Given the description of an element on the screen output the (x, y) to click on. 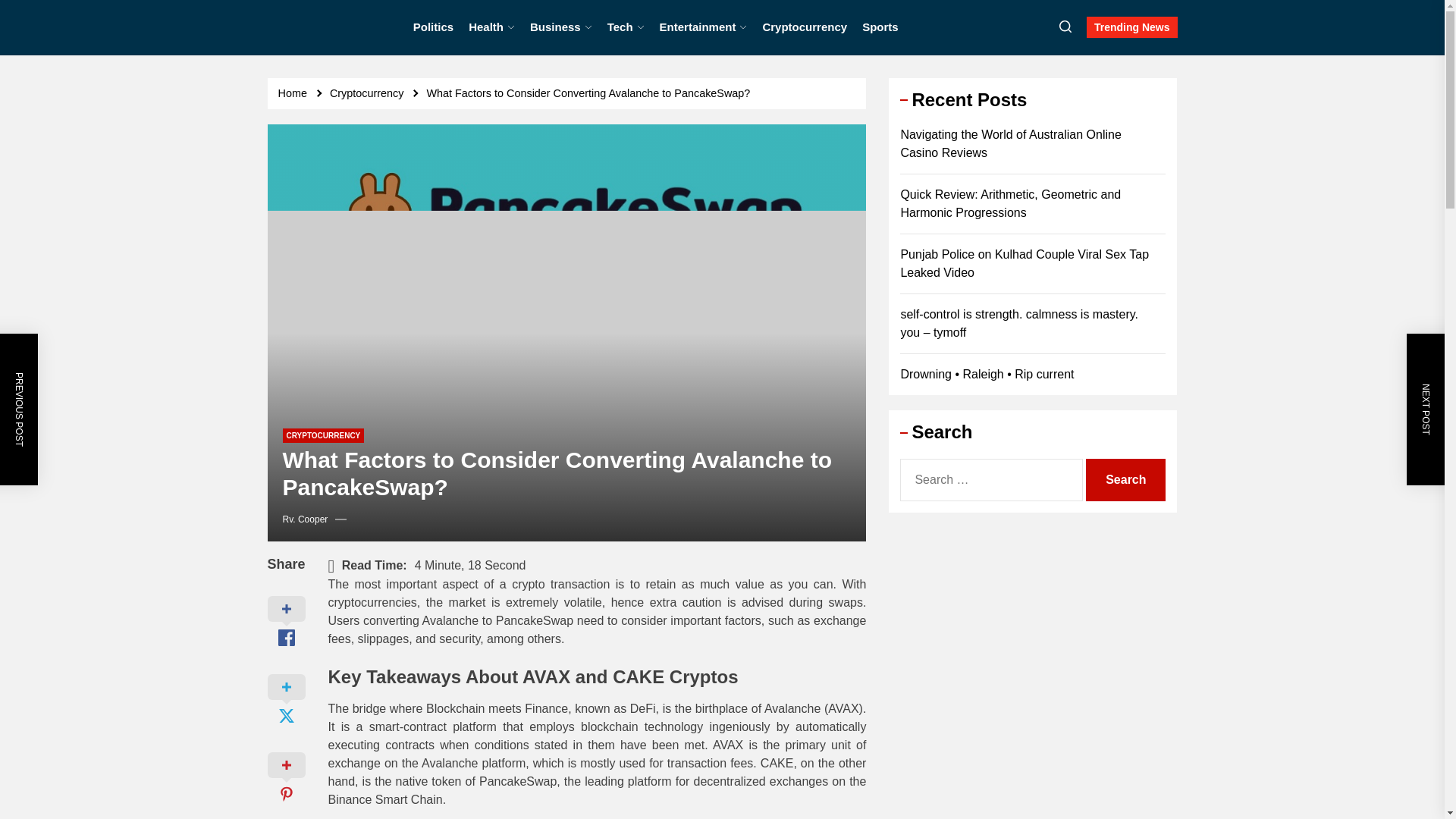
Business (560, 27)
Sports (879, 27)
Search (1126, 479)
Health (491, 27)
Search (1126, 479)
Entertainment (703, 27)
Cryptocurrency (804, 27)
Tech (626, 27)
Politics (432, 27)
Trending News (1131, 26)
